Given the description of an element on the screen output the (x, y) to click on. 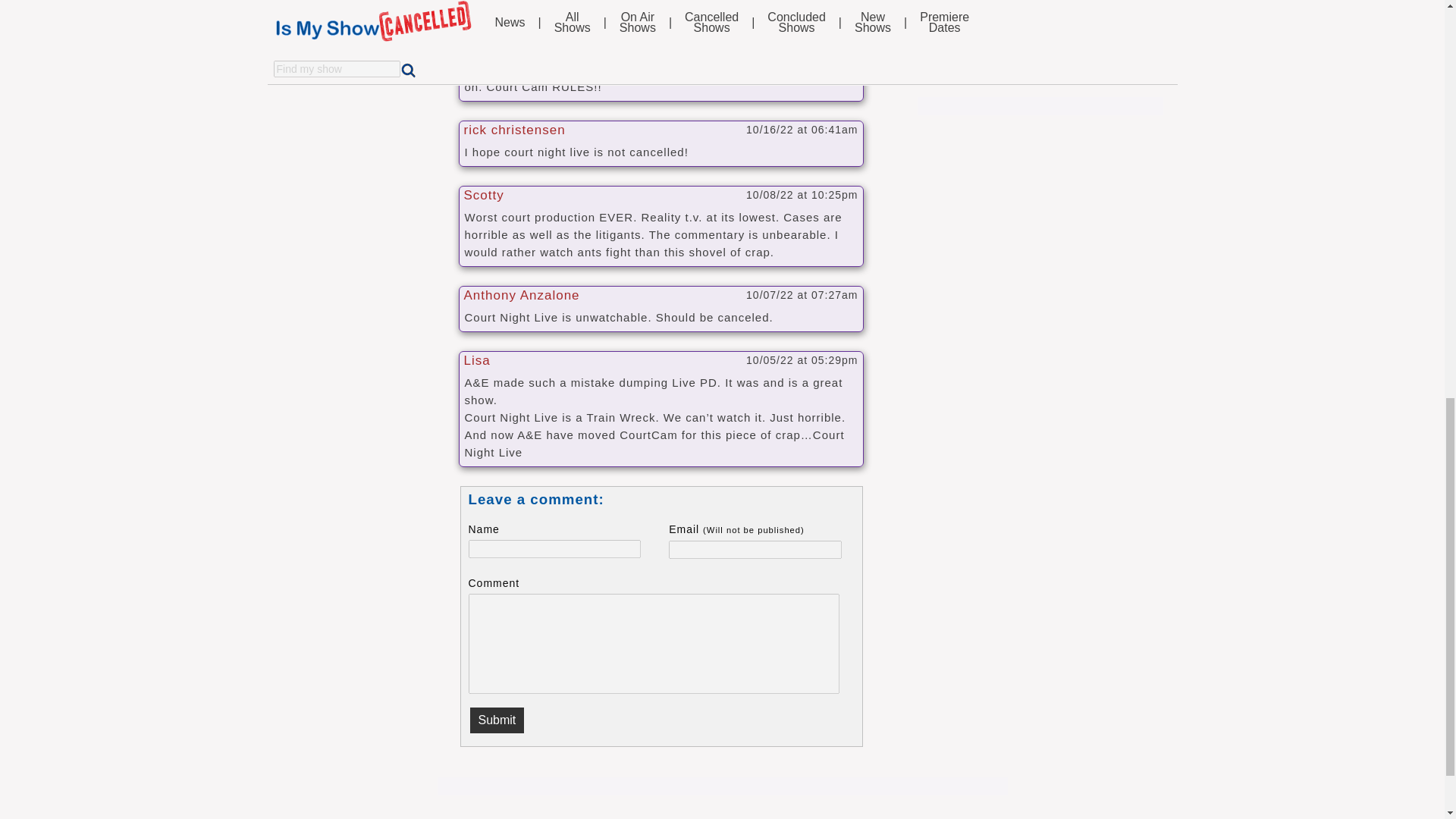
Submit (497, 720)
Submit (497, 720)
